Given the description of an element on the screen output the (x, y) to click on. 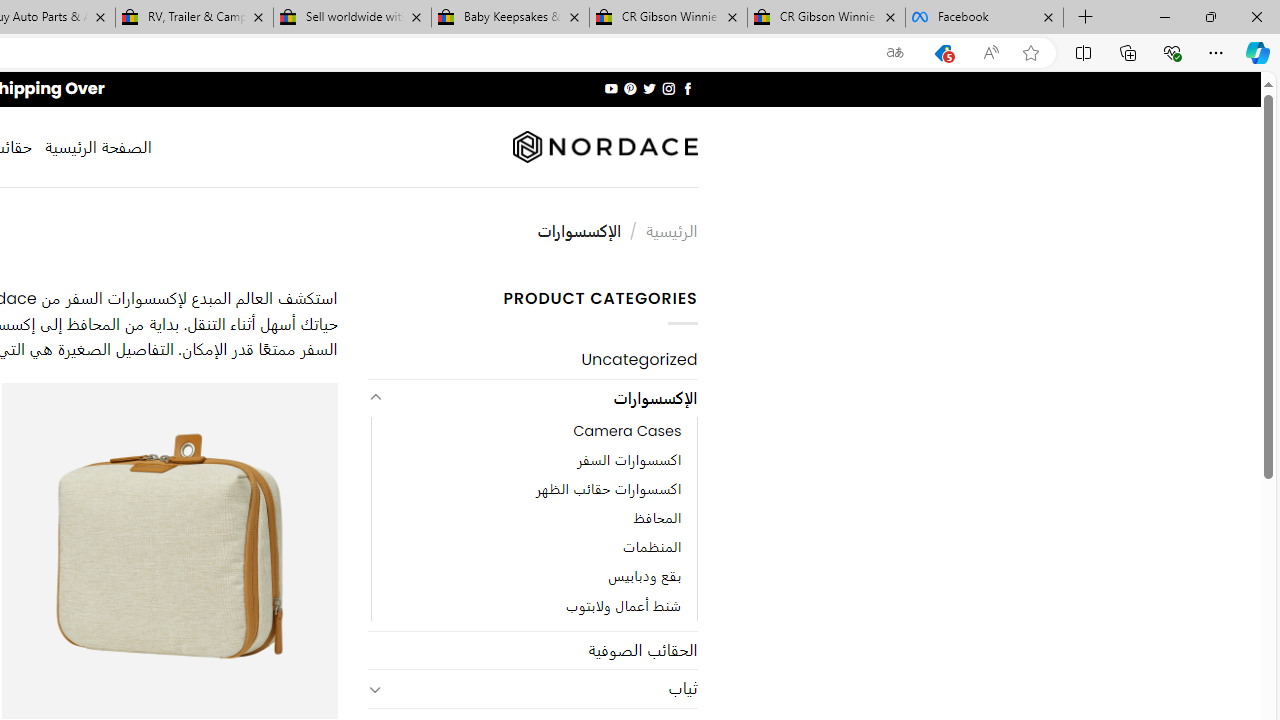
Show translate options (895, 53)
Close (1256, 16)
Follow on Facebook (686, 88)
Nordace (604, 147)
Follow on Twitter (648, 88)
This site has coupons! Shopping in Microsoft Edge, 5 (943, 53)
Close tab (1048, 16)
Split screen (1083, 52)
Facebook (984, 17)
Settings and more (Alt+F) (1215, 52)
Baby Keepsakes & Announcements for sale | eBay (509, 17)
